Given the description of an element on the screen output the (x, y) to click on. 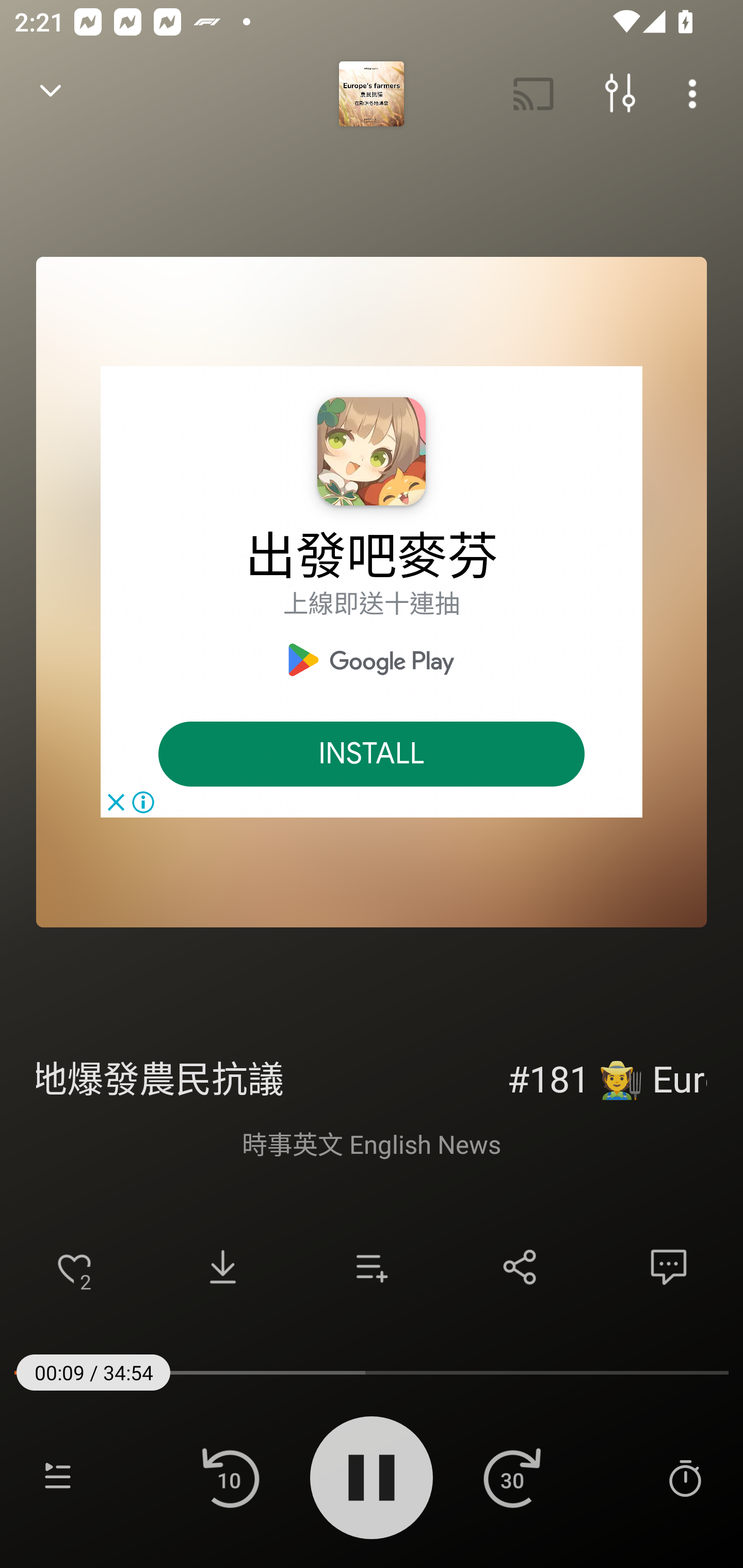
Cast. Disconnected (533, 93)
 Back (50, 94)
出發吧麥芬 上線即送十連抽 INSTALL INSTALL (371, 591)
INSTALL (371, 753)
#181 🧑‍🌾 Europe's farmers 歐洲各地爆發農民抗議 (371, 1076)
時事英文 English News (371, 1142)
Comments (668, 1266)
Add to Favorites (73, 1266)
Add to playlist (371, 1266)
Share (519, 1266)
 Playlist (57, 1477)
Sleep Timer  (684, 1477)
